Given the description of an element on the screen output the (x, y) to click on. 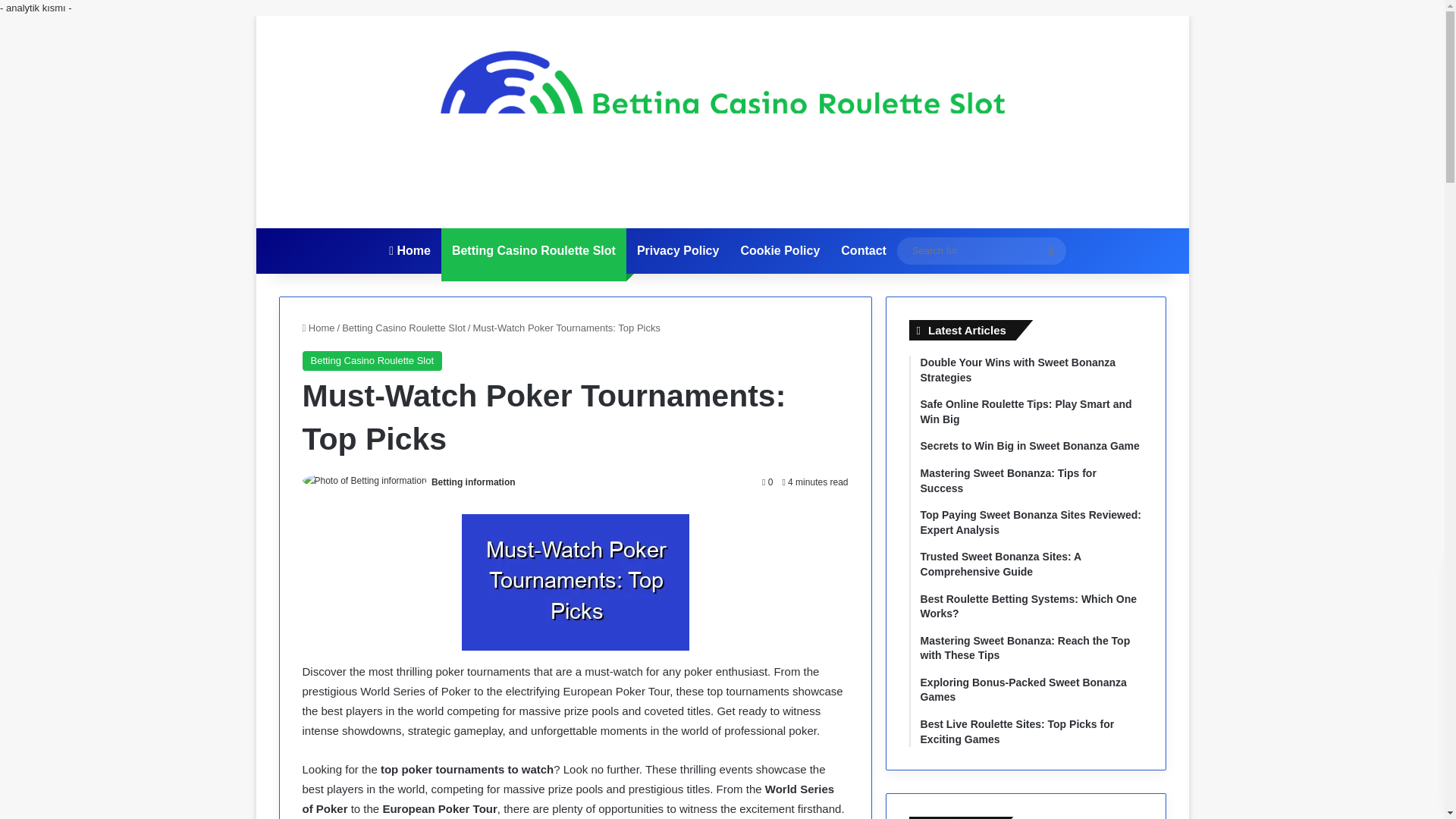
Betting information (472, 481)
Cookie Policy (779, 250)
Betting Casino Roulette Slot (403, 327)
Home (317, 327)
Betting information (472, 481)
Betting Casino Roulette Slot (371, 361)
Betting Casino Roulette Slot (533, 250)
Must-Watch Poker Tournaments: Top Picks (574, 582)
Search for (1050, 250)
Privacy Policy (678, 250)
Contact (862, 250)
Search for (980, 250)
Home (409, 250)
